Given the description of an element on the screen output the (x, y) to click on. 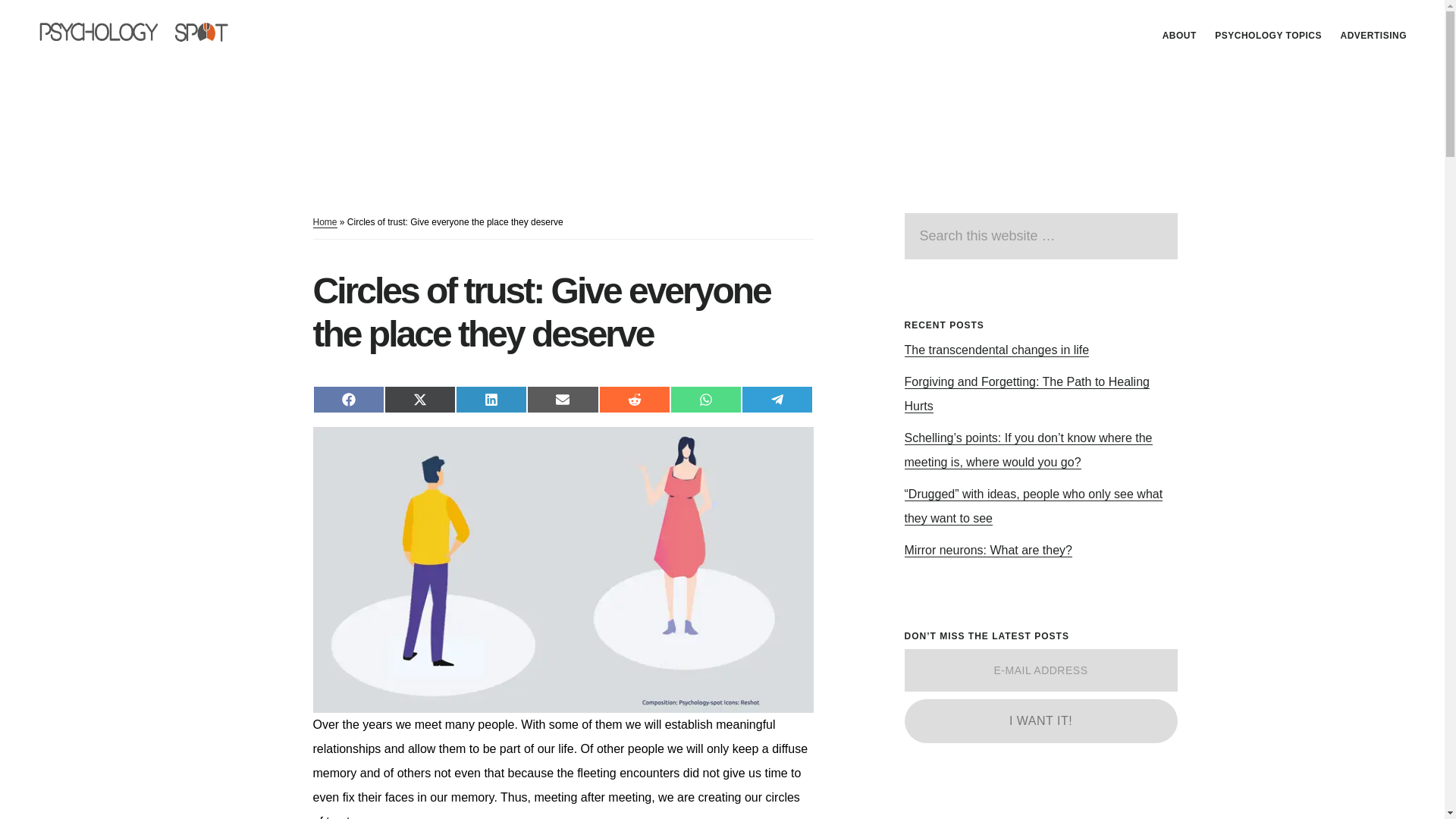
The transcendental changes in life (996, 350)
Forgiving and Forgetting: The Path to Healing Hurts (1026, 394)
PSYCHOLOGY TOPICS (1268, 35)
SHARE ON LINKEDIN (491, 399)
SHARE ON REDDIT (633, 399)
SHARE ON WHATSAPP (705, 399)
PSYCHOLOGY SPOT (143, 32)
SHARE ON TELEGRAM (776, 399)
SHARE ON EMAIL (562, 399)
I Want It! (1040, 720)
Home (324, 222)
SHARE ON FACEBOOK (348, 399)
Advertisement (1017, 811)
